Given the description of an element on the screen output the (x, y) to click on. 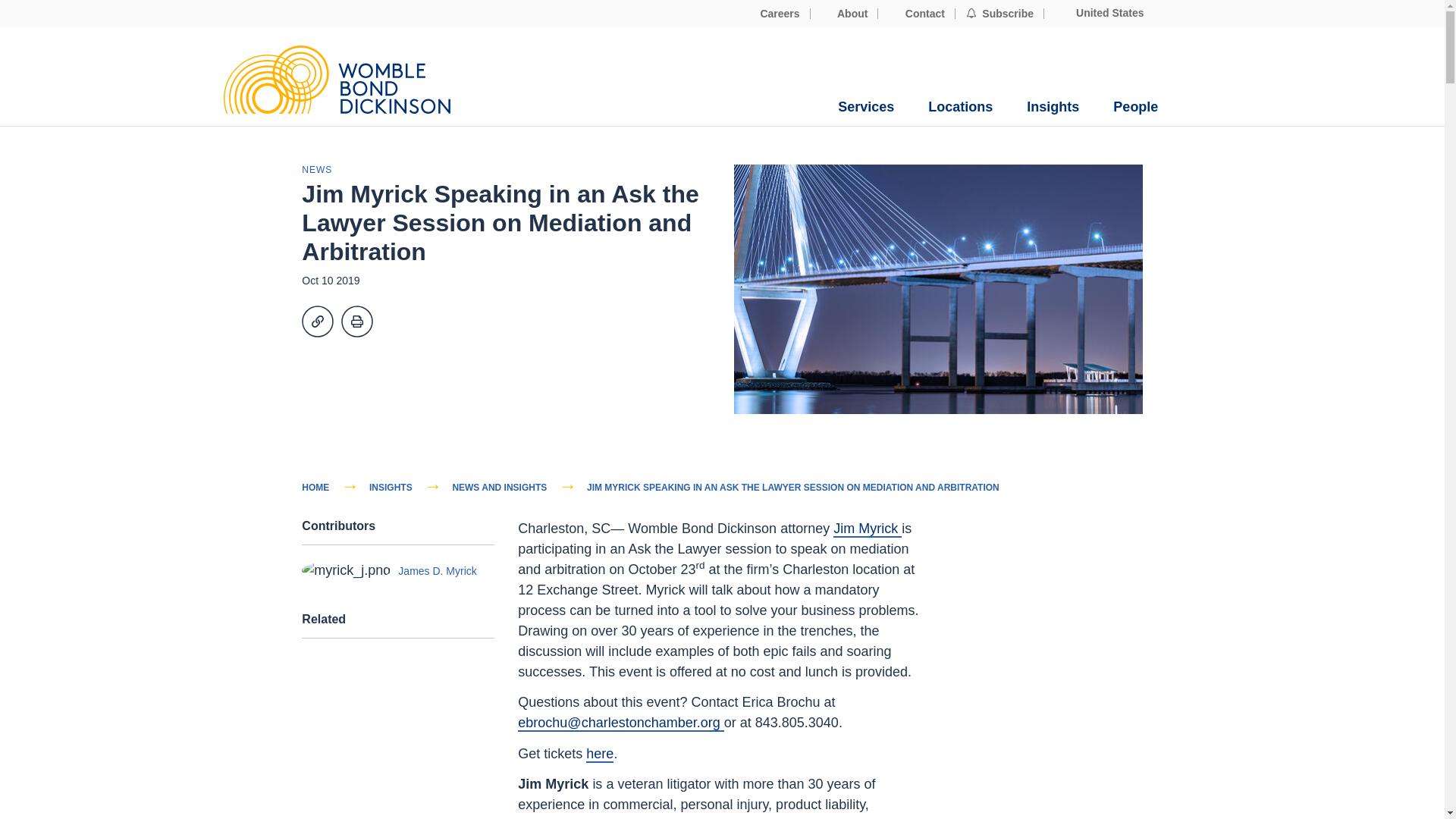
United States (1098, 13)
Services (865, 107)
Ask a Lawyer (599, 754)
Careers (771, 13)
Locations (960, 107)
About (844, 13)
Contact (916, 13)
